Given the description of an element on the screen output the (x, y) to click on. 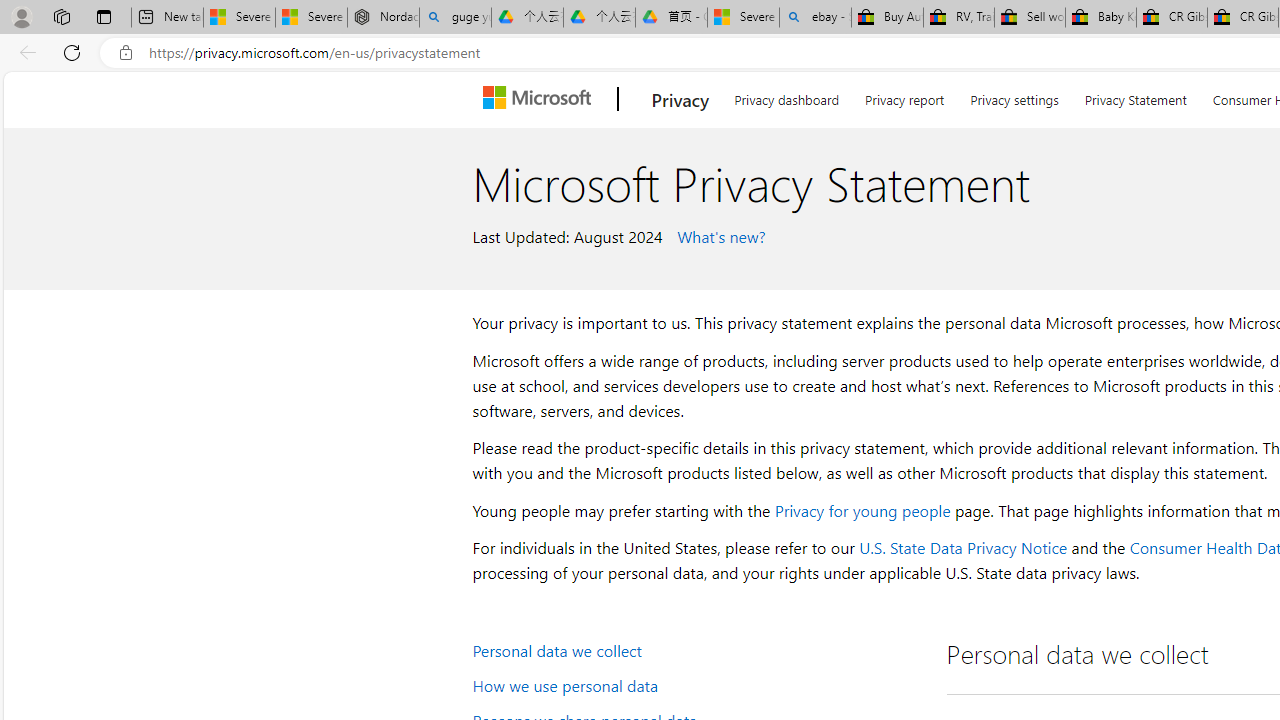
Privacy report (904, 96)
Microsoft (541, 99)
Privacy (680, 99)
U.S. State Data Privacy Notice (962, 547)
Privacy settings (1014, 96)
Privacy settings (1014, 96)
Personal data we collect (696, 650)
Privacy dashboard (786, 96)
Privacy dashboard (786, 96)
Privacy report (904, 96)
